Given the description of an element on the screen output the (x, y) to click on. 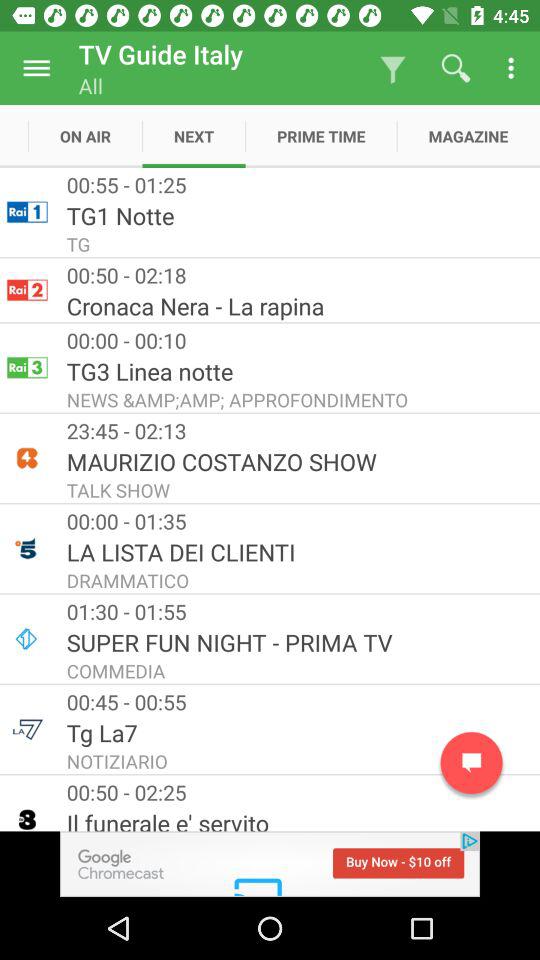
advertisement for google chromecast (270, 864)
